Given the description of an element on the screen output the (x, y) to click on. 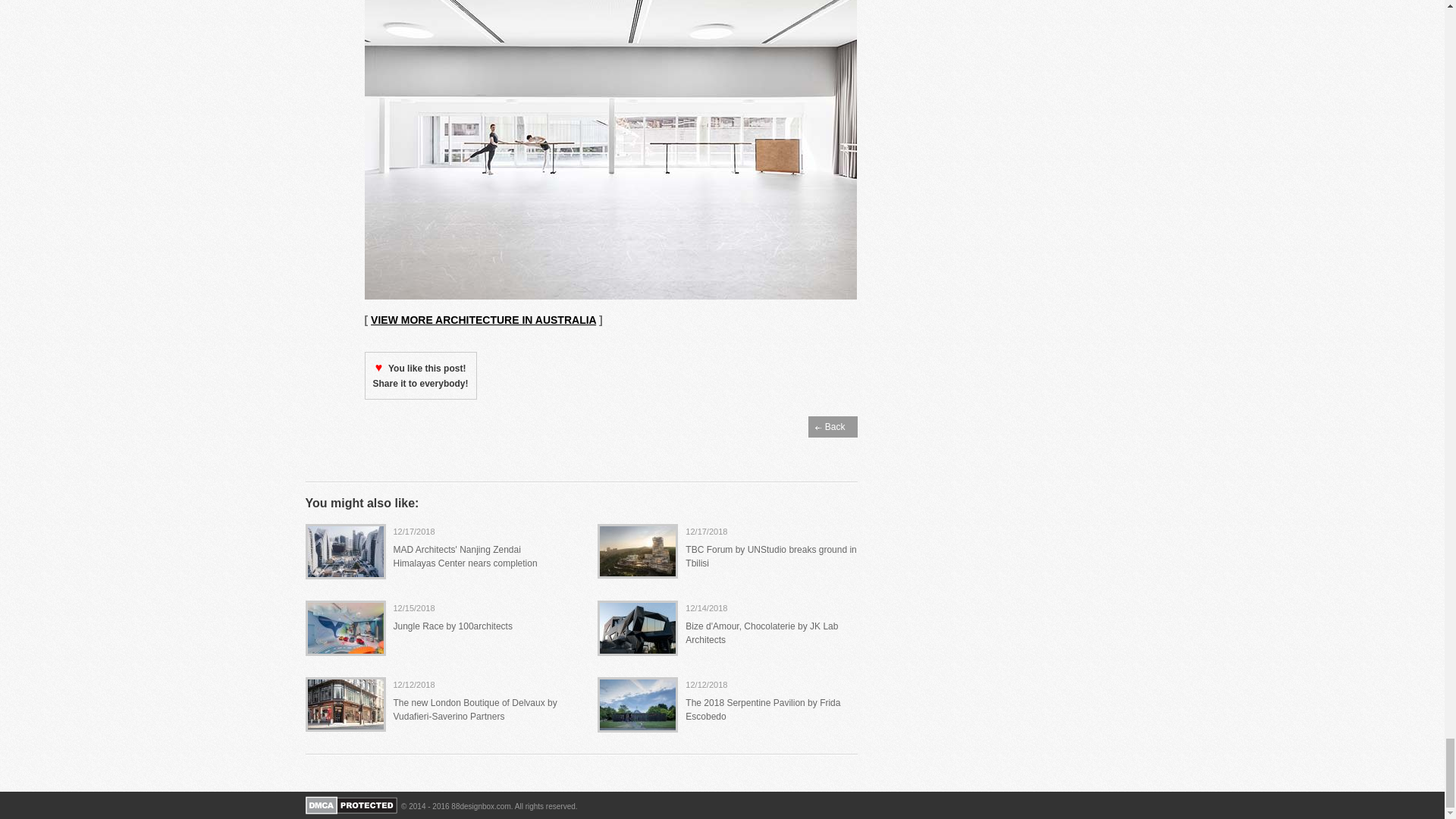
Jungle Race by 100architects (452, 625)
Bize d'Amour, Chocolaterie by JK Lab Architects (761, 632)
Back (832, 426)
VIEW MORE ARCHITECTURE IN AUSTRALIA (483, 319)
TBC Forum by UNStudio breaks ground in Tbilisi (770, 556)
